Given the description of an element on the screen output the (x, y) to click on. 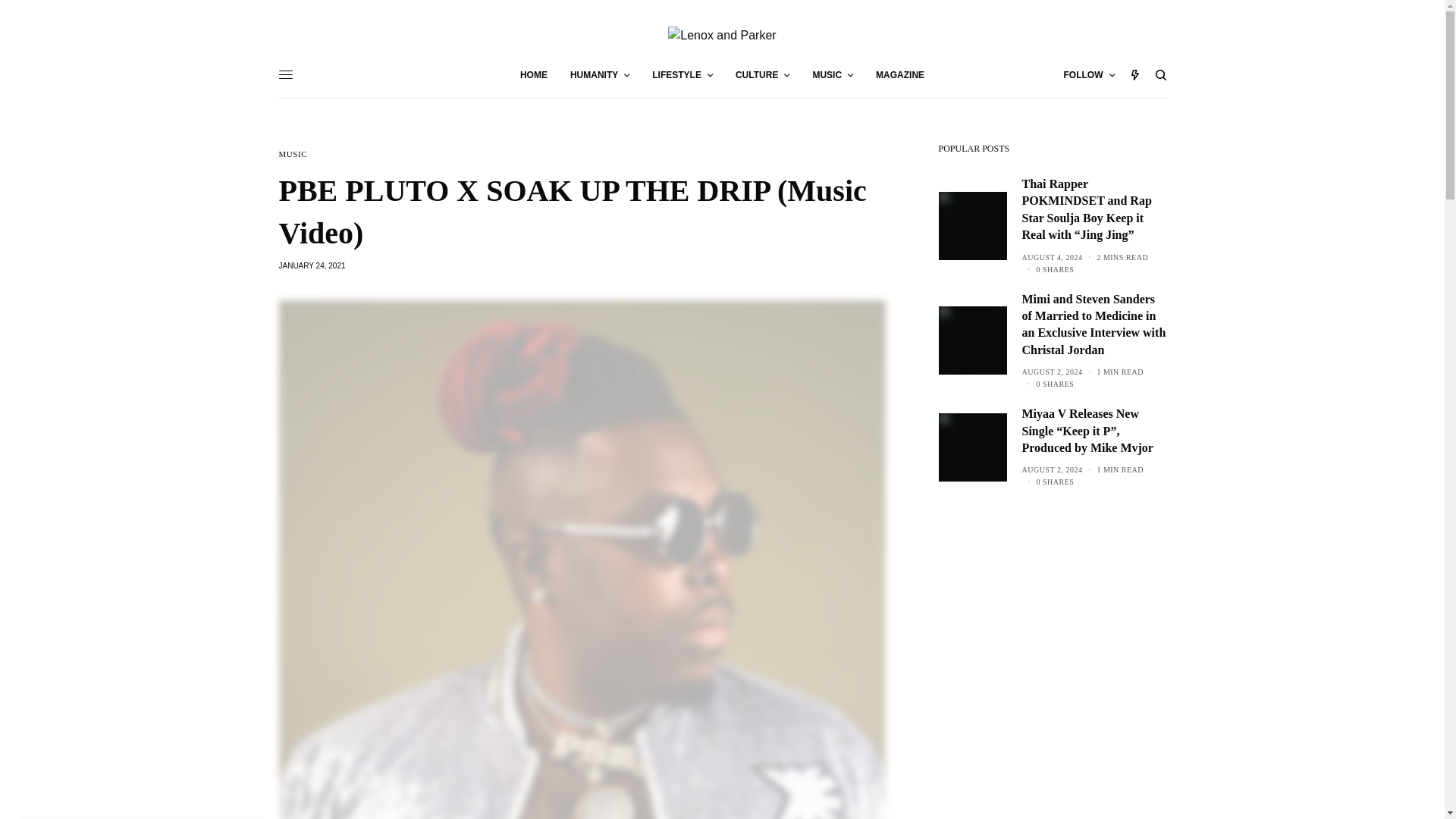
MAGAZINE (900, 74)
FOLLOW (1089, 74)
LIFESTYLE (682, 74)
CULTURE (762, 74)
MUSIC (832, 74)
MUSIC (293, 153)
Lenox and Parker (722, 35)
HOME (533, 74)
HUMANITY (599, 74)
